Given the description of an element on the screen output the (x, y) to click on. 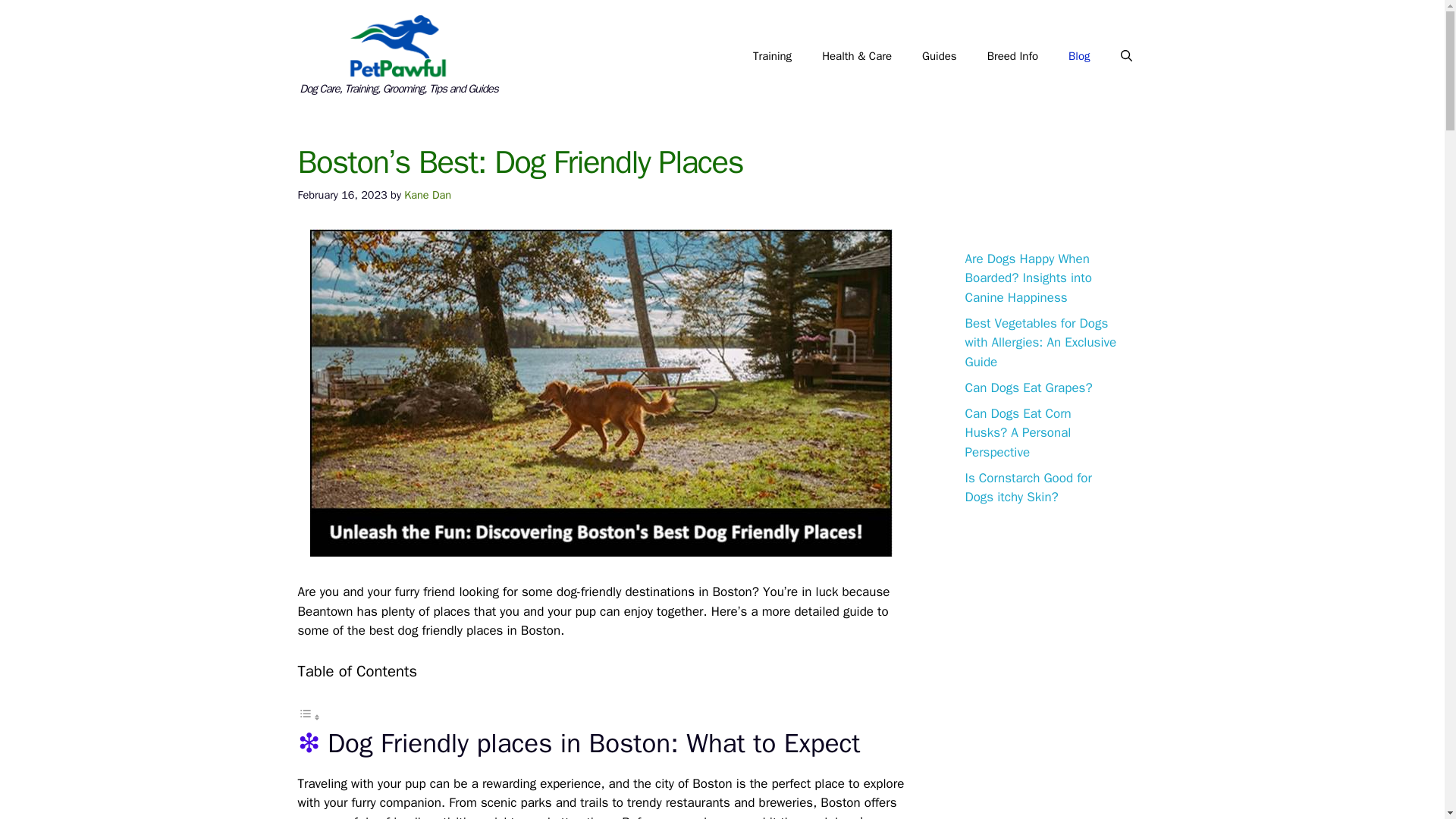
View all posts by Kane Dan (427, 194)
Kane Dan (427, 194)
Training (772, 55)
Breed Info (1012, 55)
Guides (939, 55)
Blog (1078, 55)
